Given the description of an element on the screen output the (x, y) to click on. 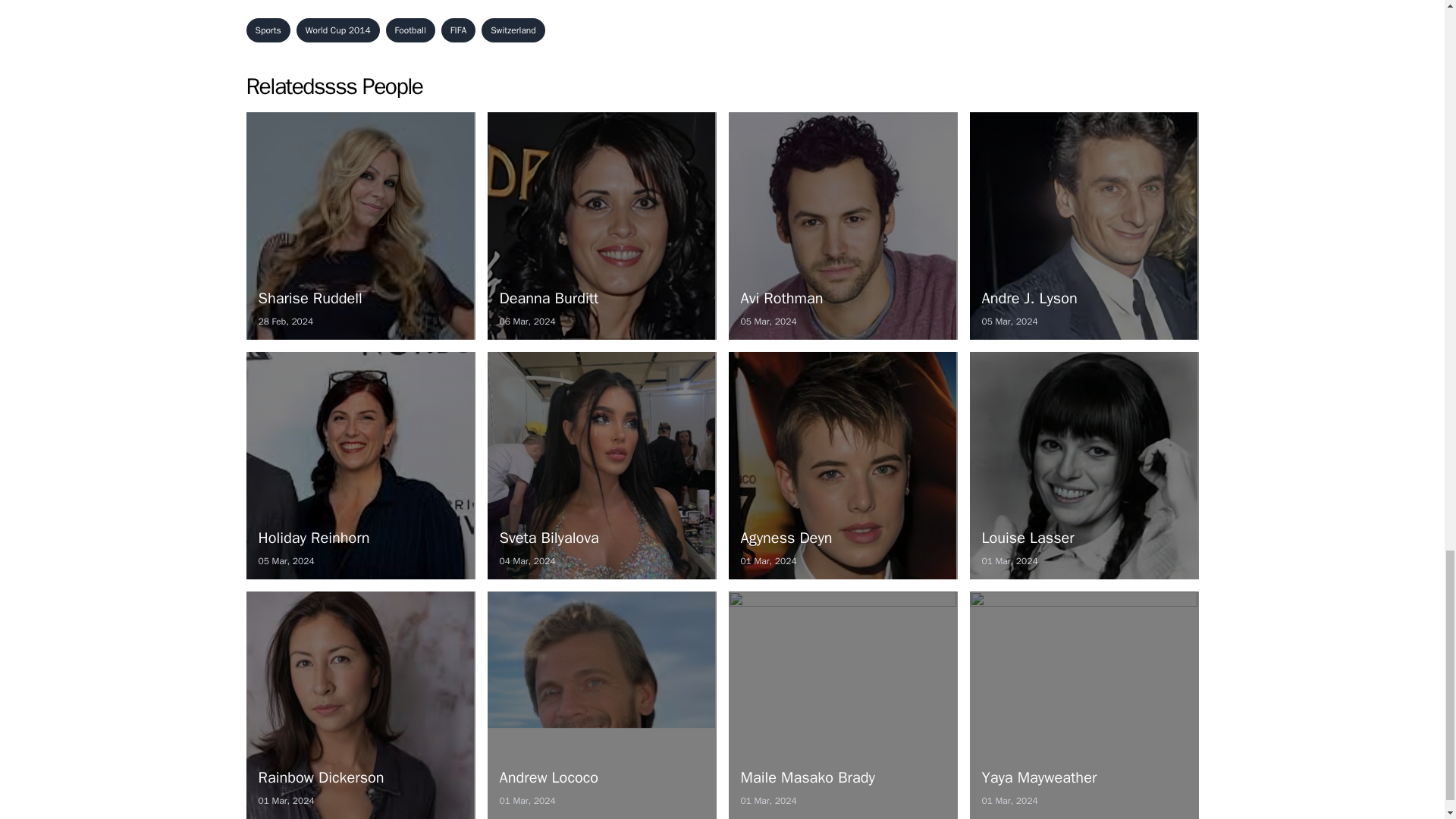
World Cup 2014 (338, 30)
Switzerland (360, 225)
Football (842, 465)
Sports (601, 465)
FIFA (512, 30)
